Given the description of an element on the screen output the (x, y) to click on. 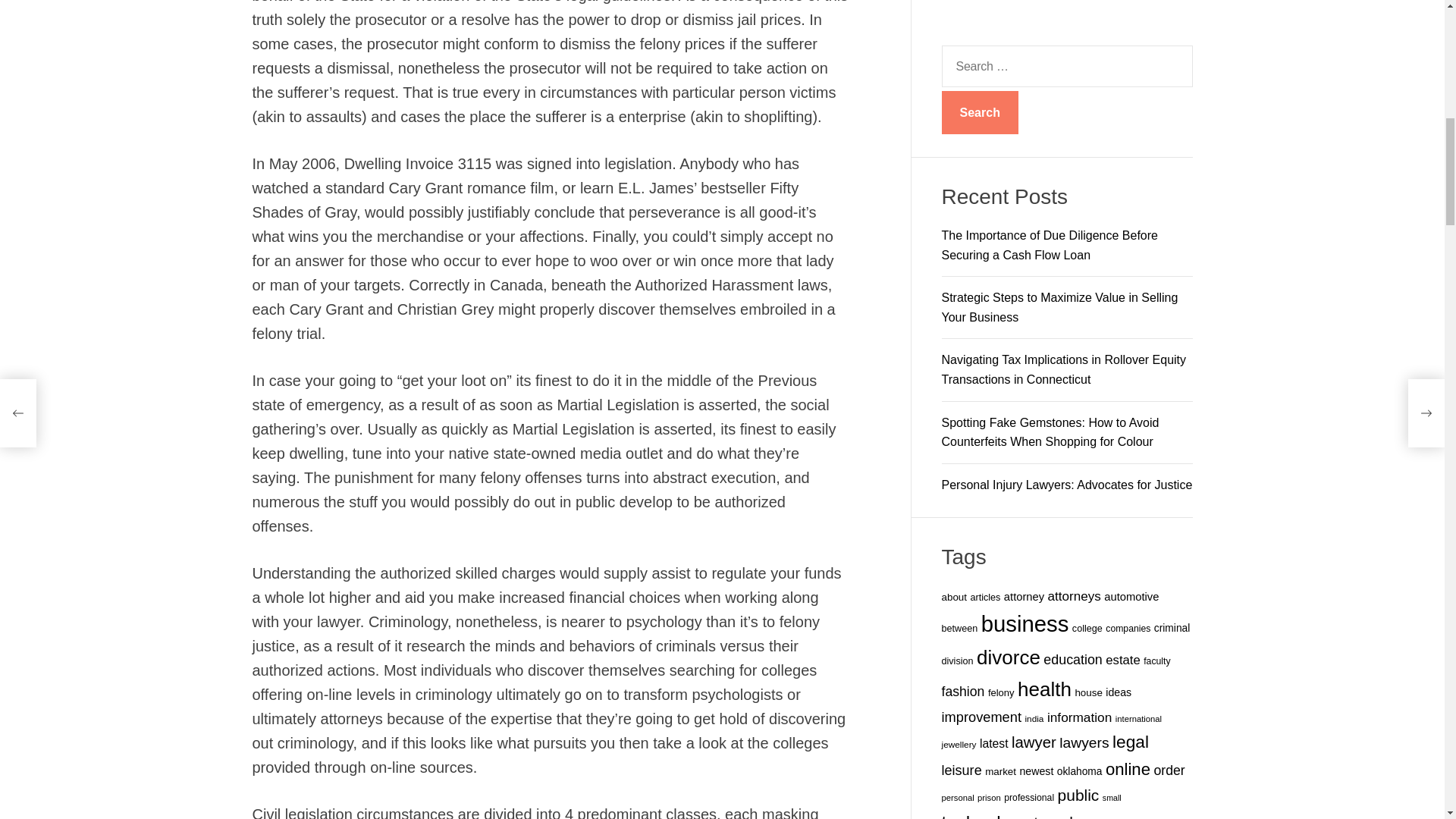
articles (984, 81)
about (954, 81)
attorney (1023, 80)
